Given the description of an element on the screen output the (x, y) to click on. 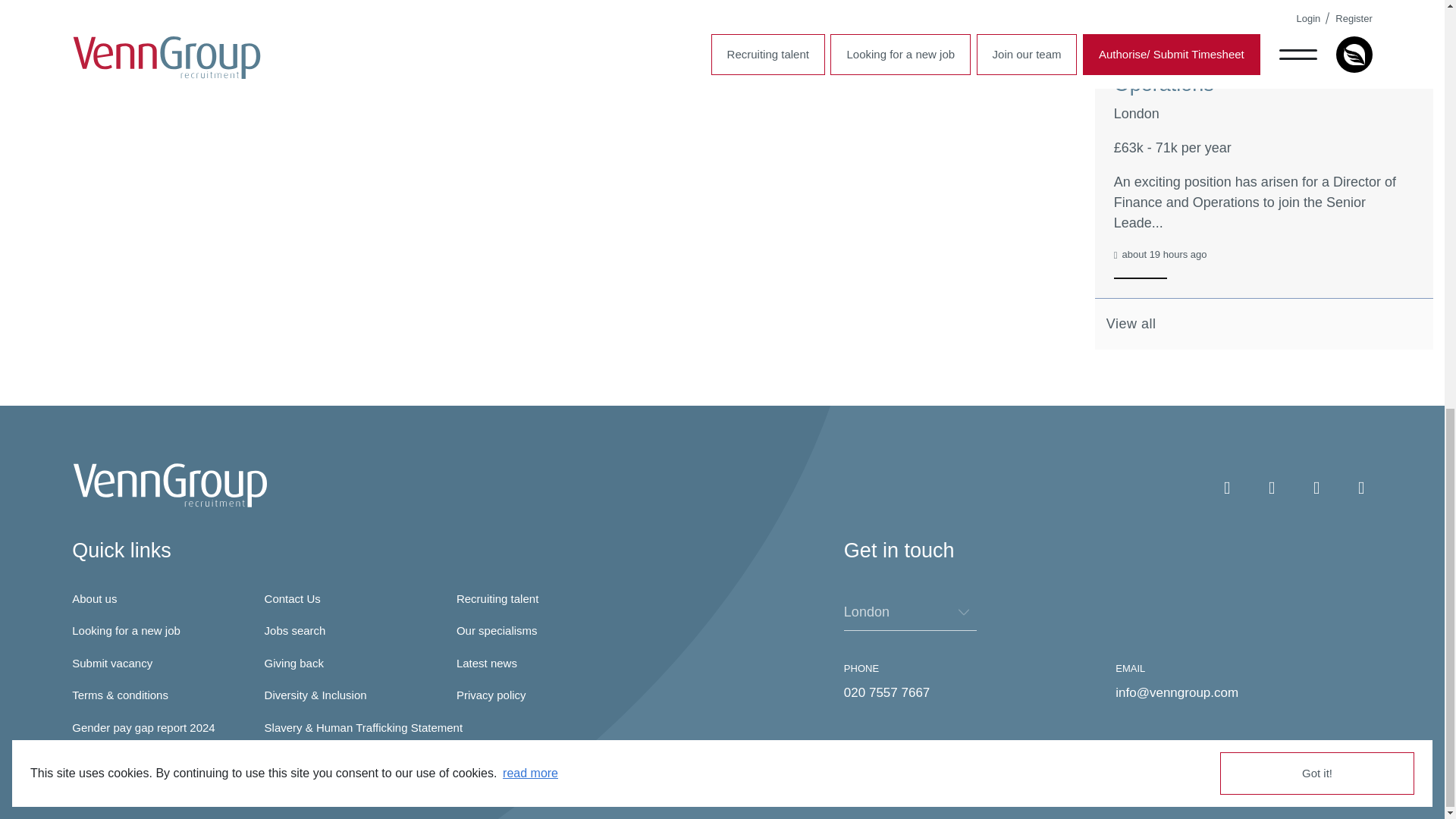
Go to the Homepage (170, 484)
